Given the description of an element on the screen output the (x, y) to click on. 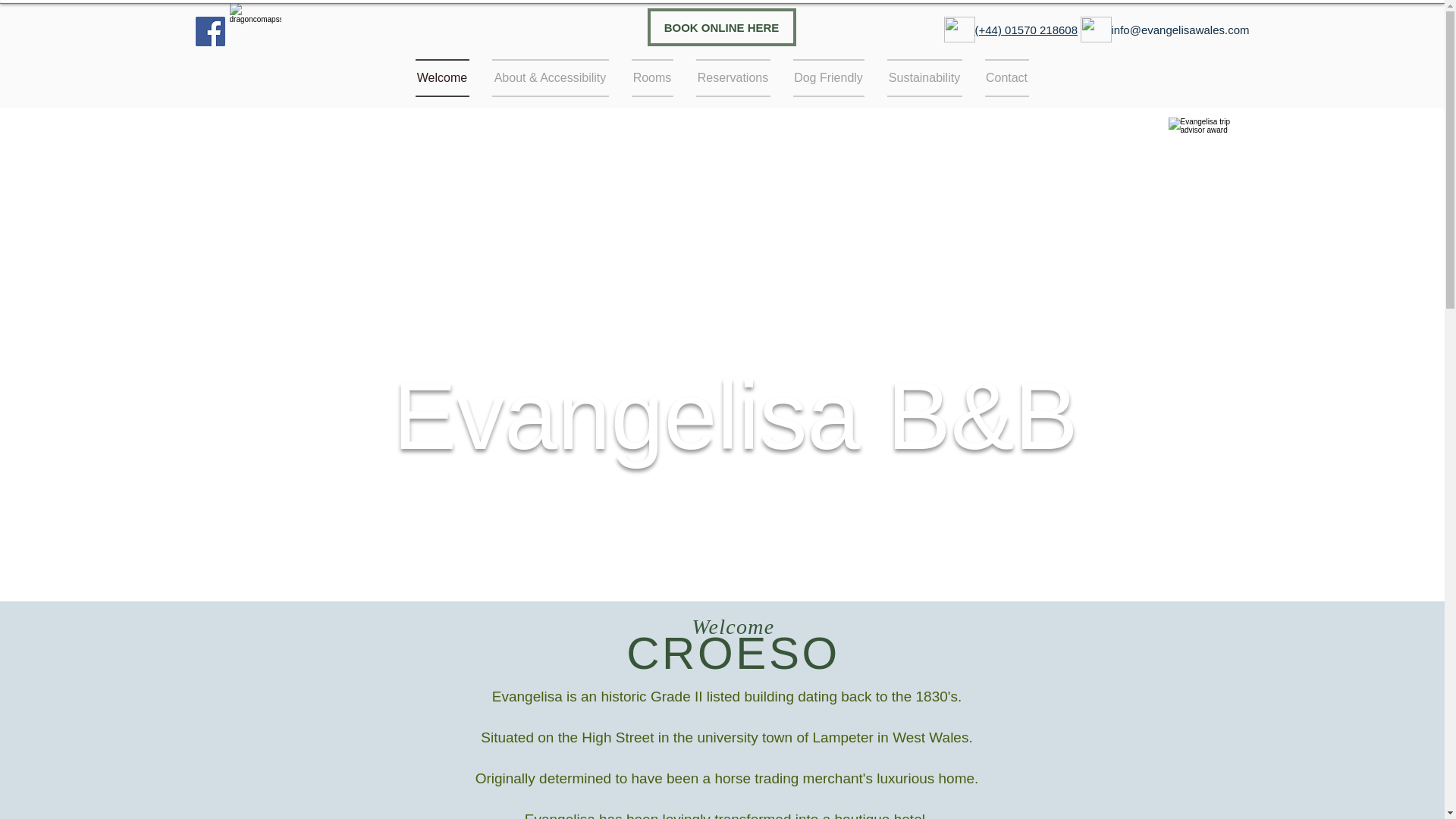
Welcome (447, 77)
Contact (1001, 77)
Rooms (652, 77)
Dog Friendly (827, 77)
Reservations (732, 77)
Sustainability (923, 77)
BOOK ONLINE HERE (721, 26)
